Given the description of an element on the screen output the (x, y) to click on. 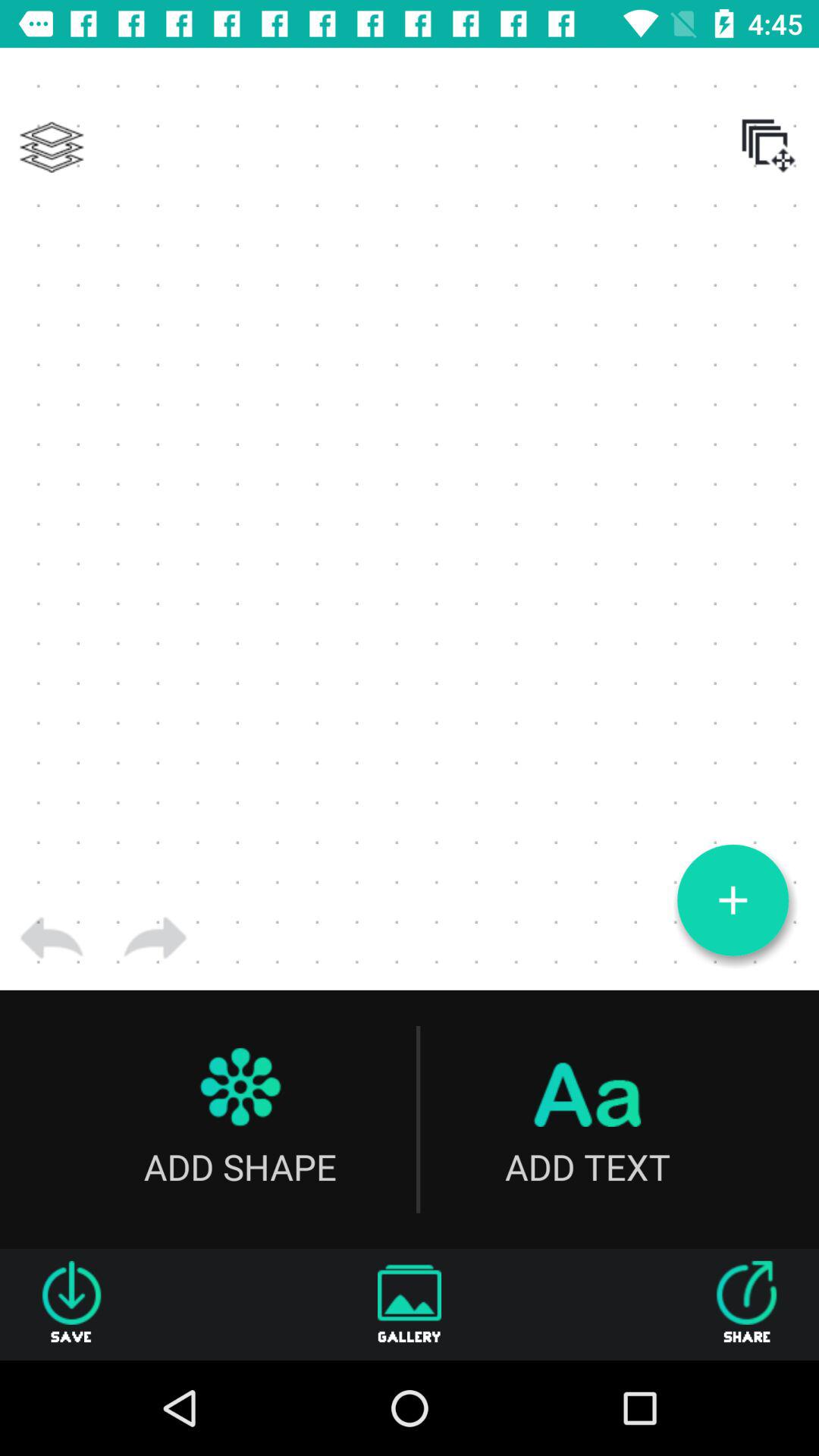
select the item above save item (51, 938)
